Given the description of an element on the screen output the (x, y) to click on. 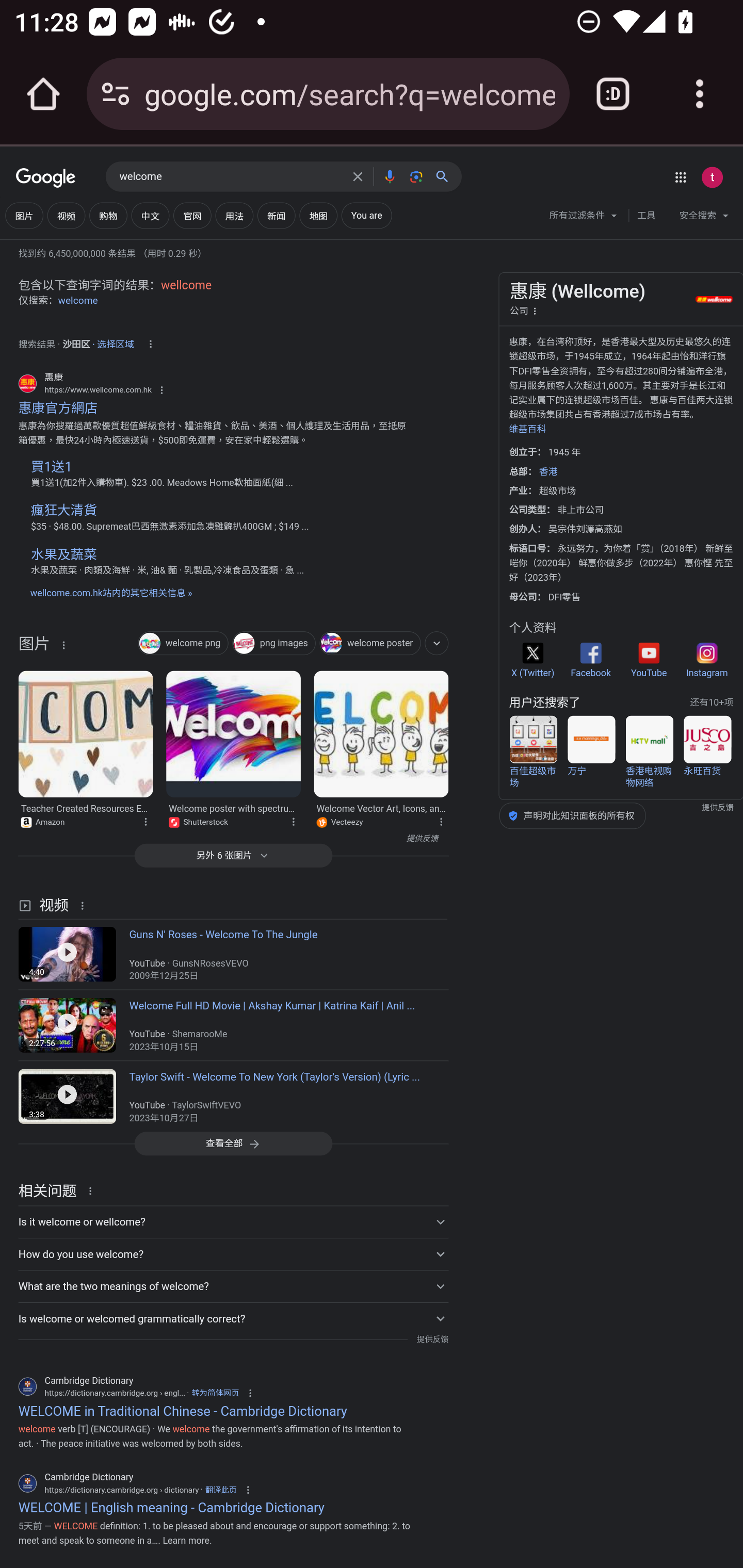
Open the home page (43, 93)
Connection is secure (115, 93)
Switch or close tabs (612, 93)
Customize and control Google Chrome (699, 93)
清除 (357, 176)
按语音搜索 (389, 176)
按图搜索 (415, 176)
搜索 (446, 176)
Google 应用 (680, 176)
Google 账号： test appium (testappium002@gmail.com) (712, 176)
Google (45, 178)
welcome (229, 177)
图片 (24, 215)
视频 (65, 215)
购物 (107, 215)
添加“中文” 中文 (149, 215)
添加“官网” 官网 (191, 215)
添加“用法” 用法 (234, 215)
新闻 (276, 215)
地图 (318, 215)
添加“You are” You are (366, 215)
所有过滤条件 (583, 217)
工具 (646, 215)
安全搜索 (703, 217)
wellcome (185, 285)
welcome (77, 299)
选择区域 (115, 341)
位置信息使用方式 (149, 343)
買1送1 買1送1 買1送1 (217, 466)
瘋狂大清貨 瘋狂大清貨 瘋狂大清貨 (217, 510)
水果及蔬菜 水果及蔬菜 水果及蔬菜 (217, 554)
wellcome.com.hk站内的其它相关信息 » (110, 593)
图片 (33, 647)
welcome png (182, 644)
png images (273, 644)
welcome poster (369, 644)
按功能过滤 (436, 642)
关于这条结果的详细信息 (62, 644)
关于这条结果的详细信息 (145, 820)
关于这条结果的详细信息 (292, 820)
关于这条结果的详细信息 (440, 820)
提供反馈 (227, 838)
另外 6 张图片 (232, 855)
关于这条结果的详细信息 (85, 905)
查看全部 (233, 1142)
关于这条结果的详细信息 (93, 1189)
Is it welcome or wellcome? (232, 1221)
How do you use welcome? (232, 1253)
What are the two meanings of welcome? (232, 1286)
Is welcome or welcomed grammatically correct? (232, 1317)
提供反馈 (432, 1339)
转为简体网页 (214, 1392)
翻译此页 (220, 1489)
